Given the description of an element on the screen output the (x, y) to click on. 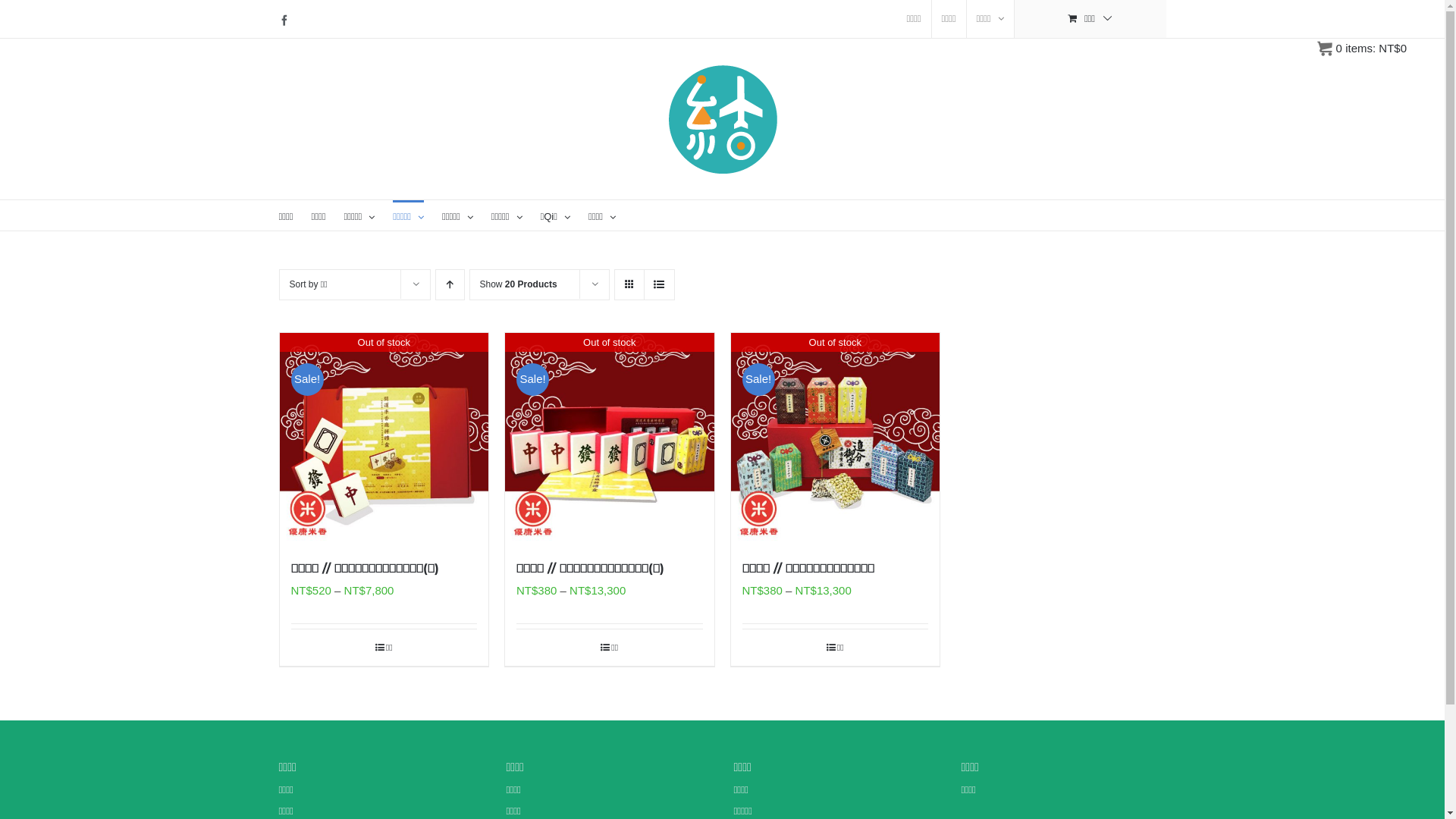
Out of stock
Sale! Element type: text (609, 437)
Show 20 Products Element type: text (517, 284)
Out of stock
Sale! Element type: text (383, 437)
Out of stock
Sale! Element type: text (835, 437)
0 items: NT$0 Element type: text (1361, 47)
Facebook Element type: text (284, 20)
